Given the description of an element on the screen output the (x, y) to click on. 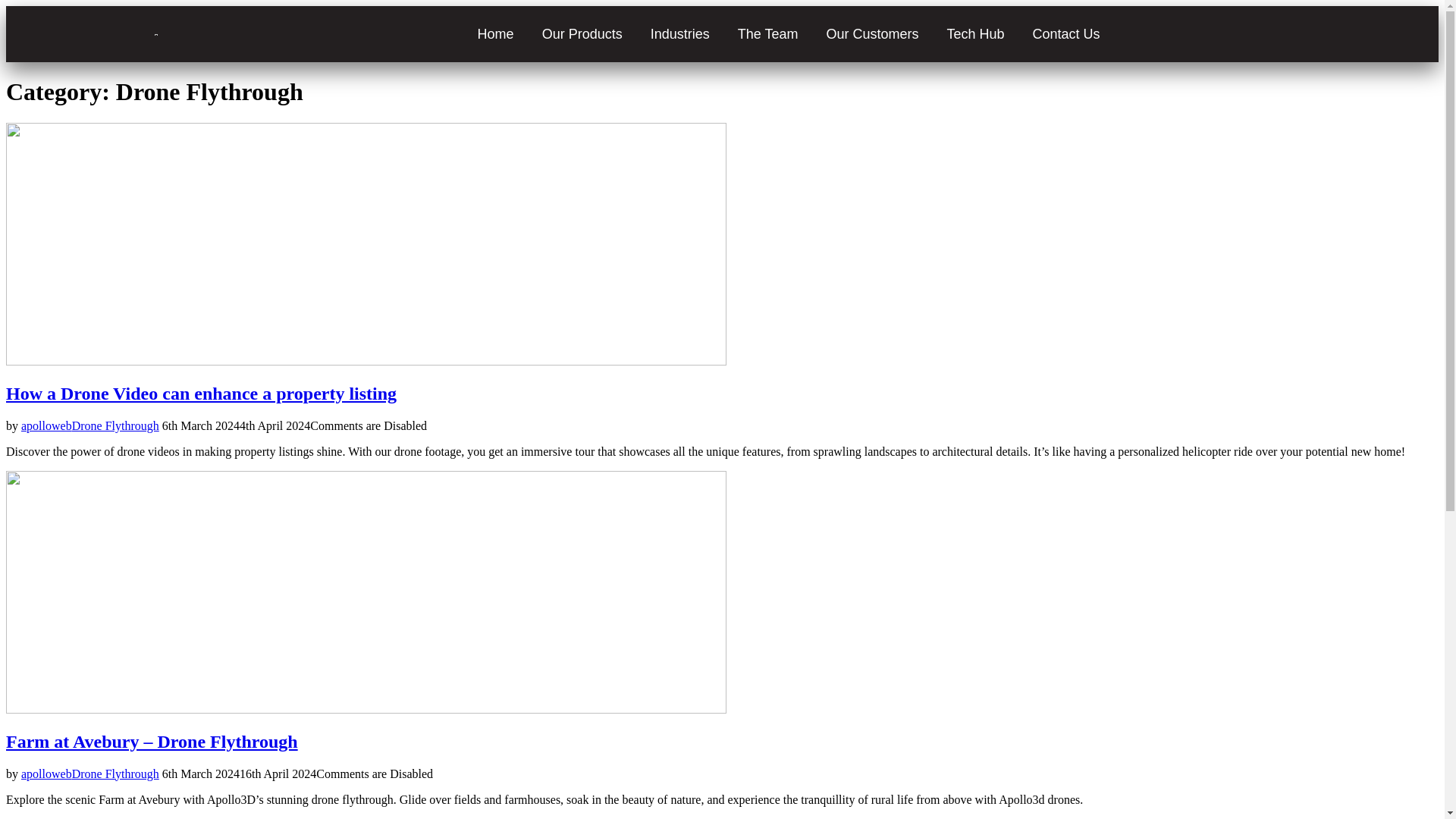
Contact Us (1066, 33)
Industries (680, 33)
Tech Hub (975, 33)
Our Customers (871, 33)
The Team (767, 33)
Our Products (581, 33)
Home (495, 33)
